Given the description of an element on the screen output the (x, y) to click on. 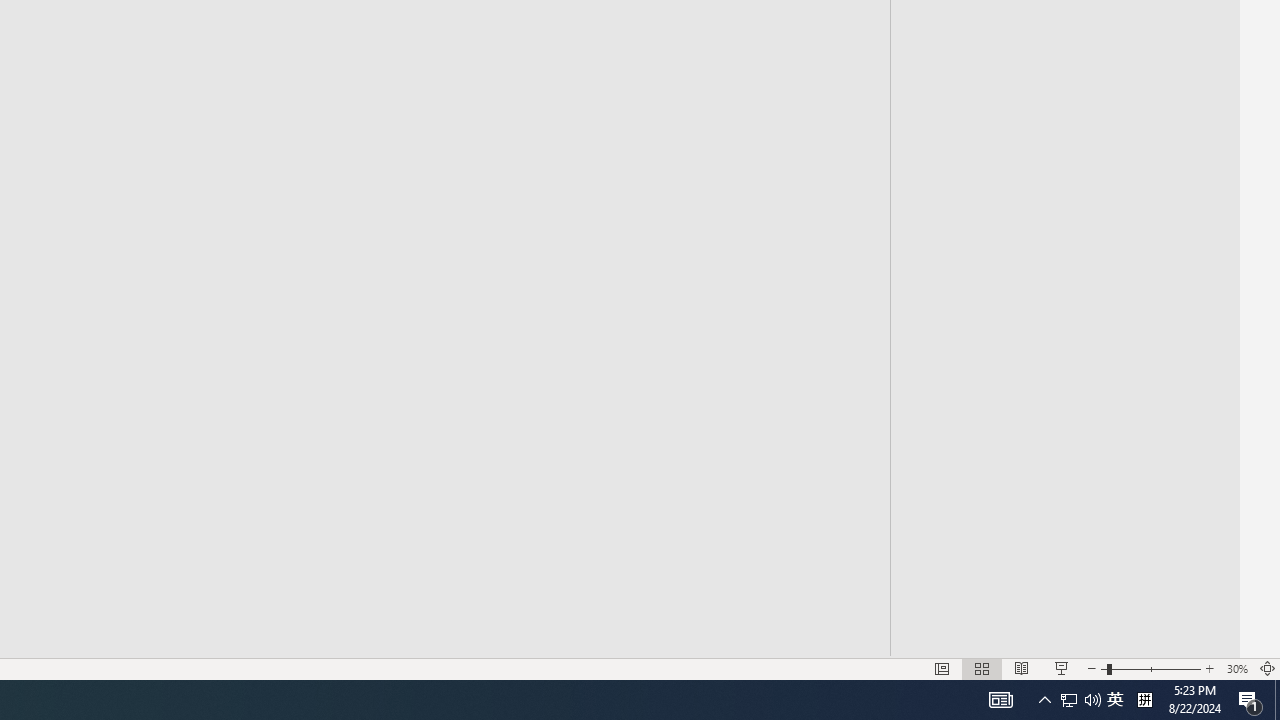
Zoom 30% (1236, 668)
Zoom to Fit  (1267, 668)
